Given the description of an element on the screen output the (x, y) to click on. 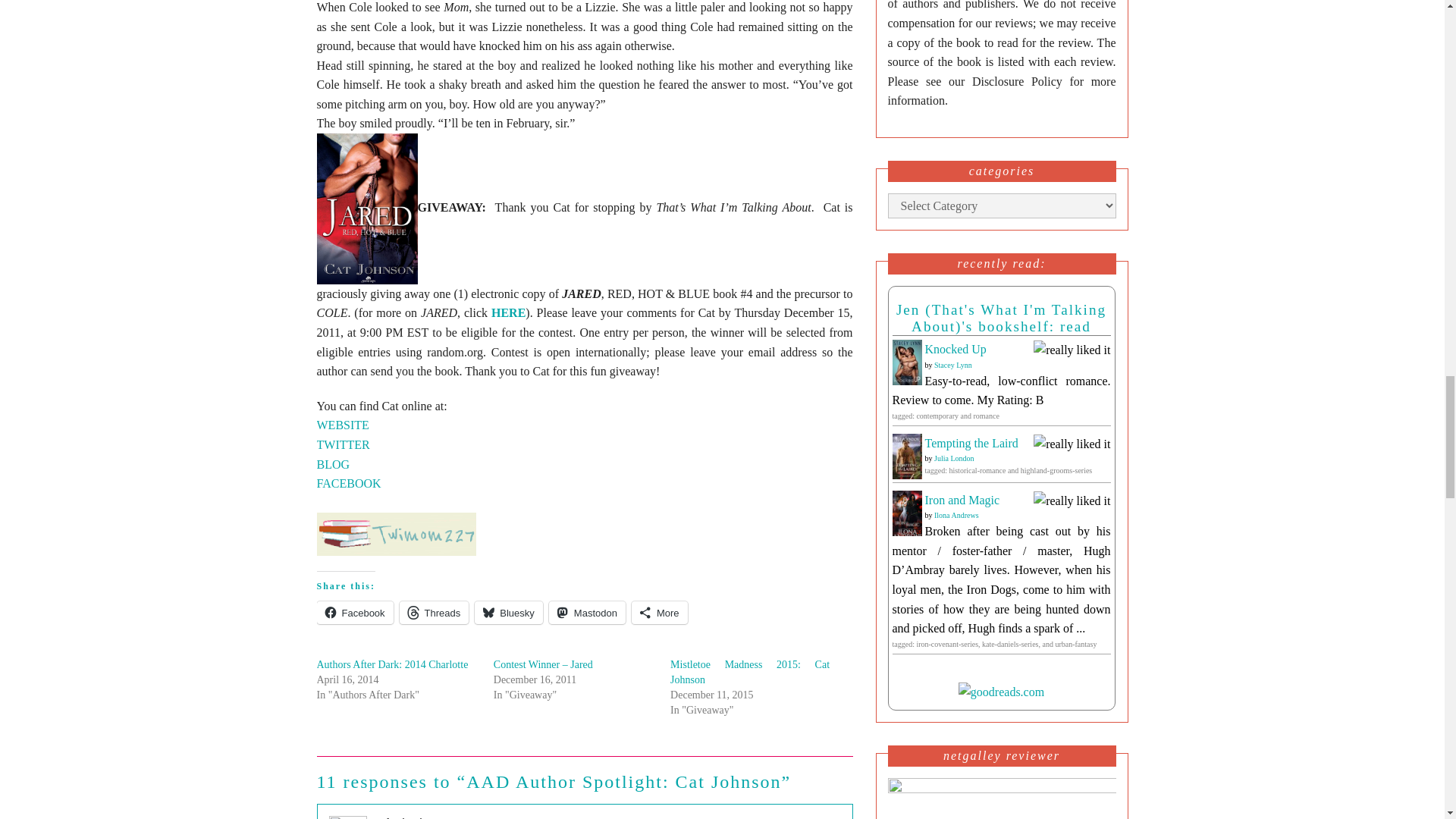
Click to share on Mastodon (587, 612)
Mistletoe Madness 2015: Cat Johnson (749, 672)
Click to share on Bluesky (508, 612)
Click to share on Facebook (355, 612)
Authors After Dark: 2014 Charlotte (392, 664)
Click to share on Threads (433, 612)
really liked it (1071, 349)
